Given the description of an element on the screen output the (x, y) to click on. 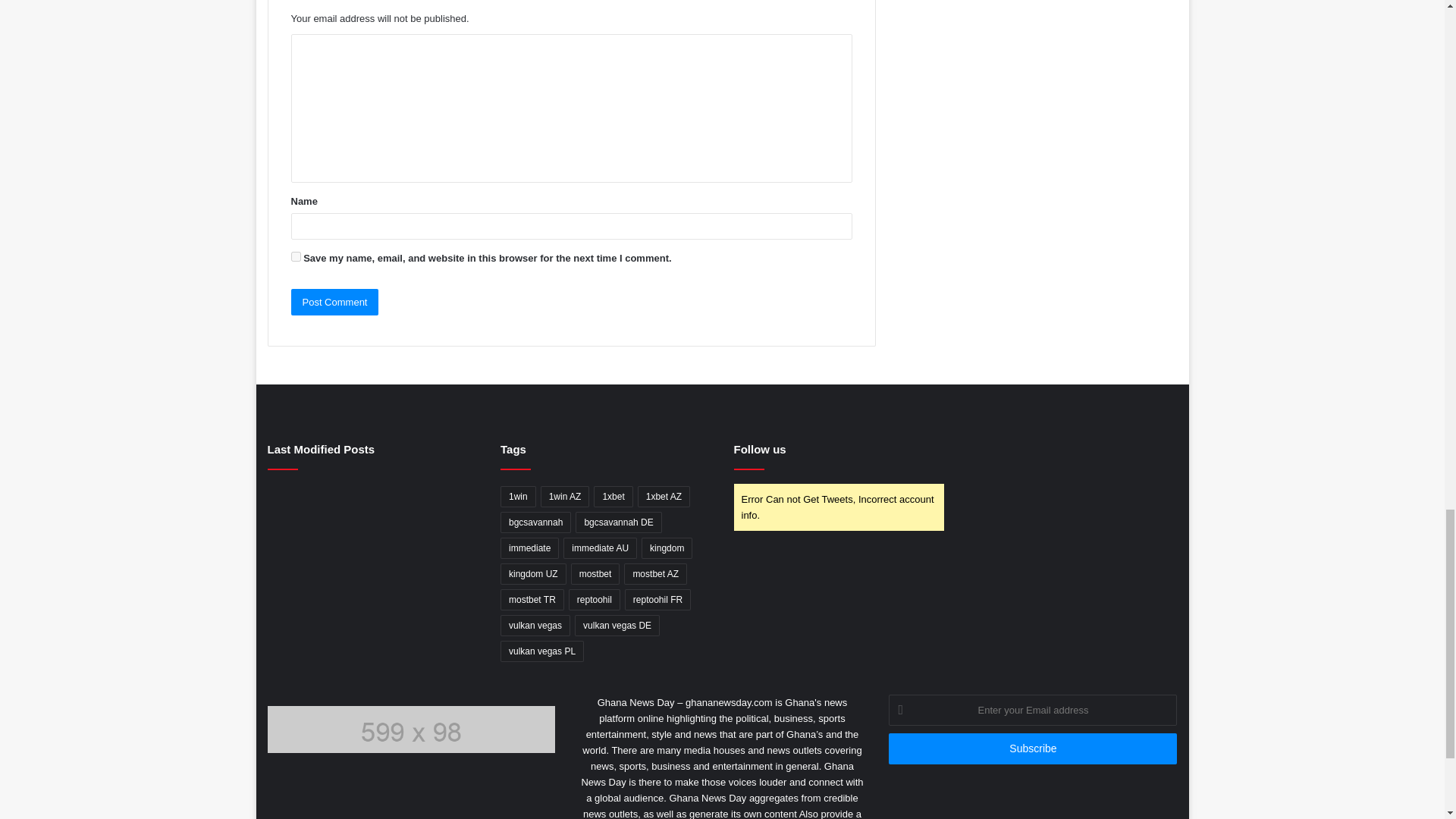
Subscribe (1032, 748)
Post Comment (334, 302)
yes (296, 256)
